Given the description of an element on the screen output the (x, y) to click on. 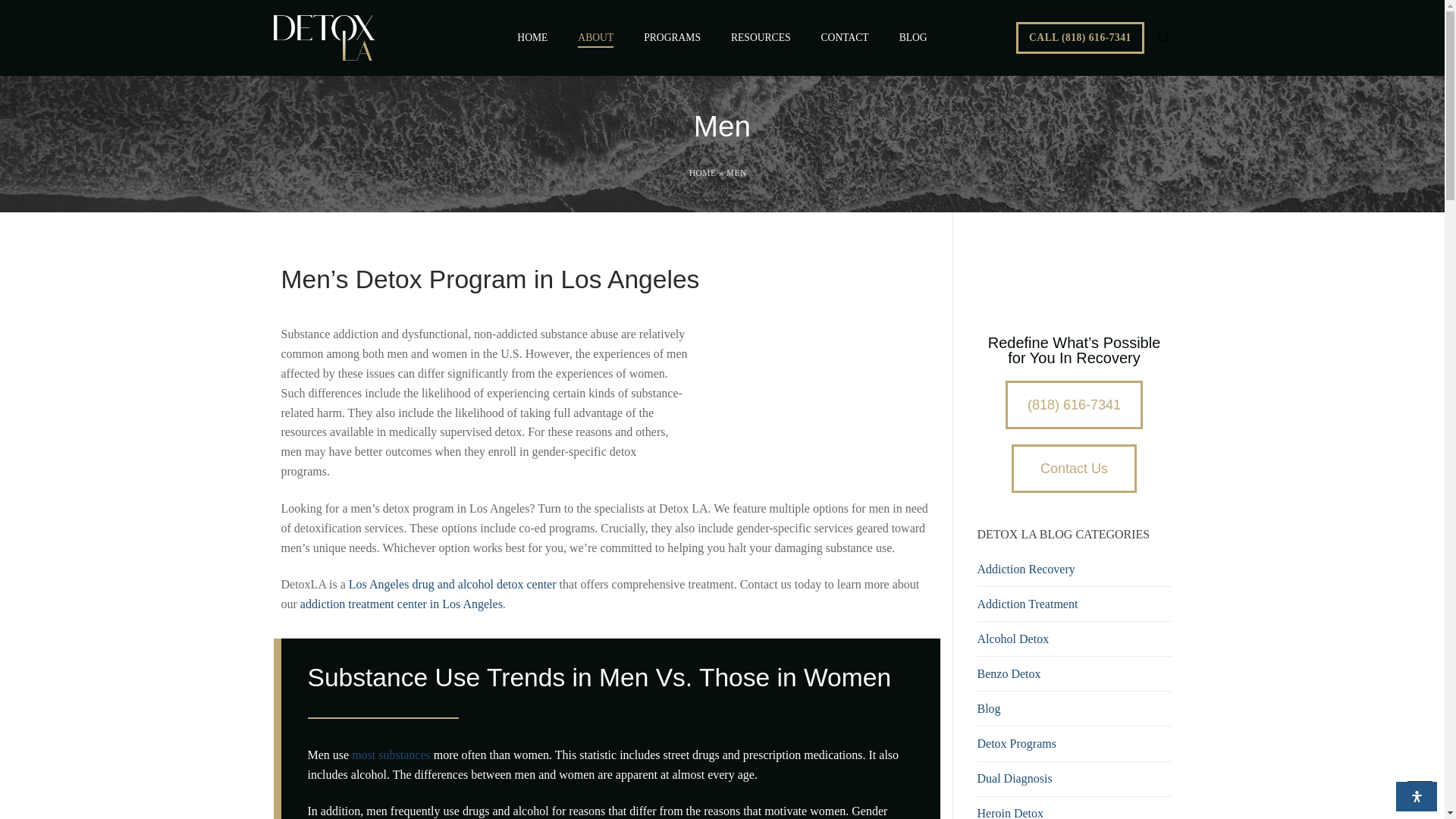
Accessibility (1416, 796)
CONTACT (844, 37)
PROGRAMS (671, 37)
RESOURCES (760, 37)
ABOUT (595, 37)
HOME (531, 37)
